Given the description of an element on the screen output the (x, y) to click on. 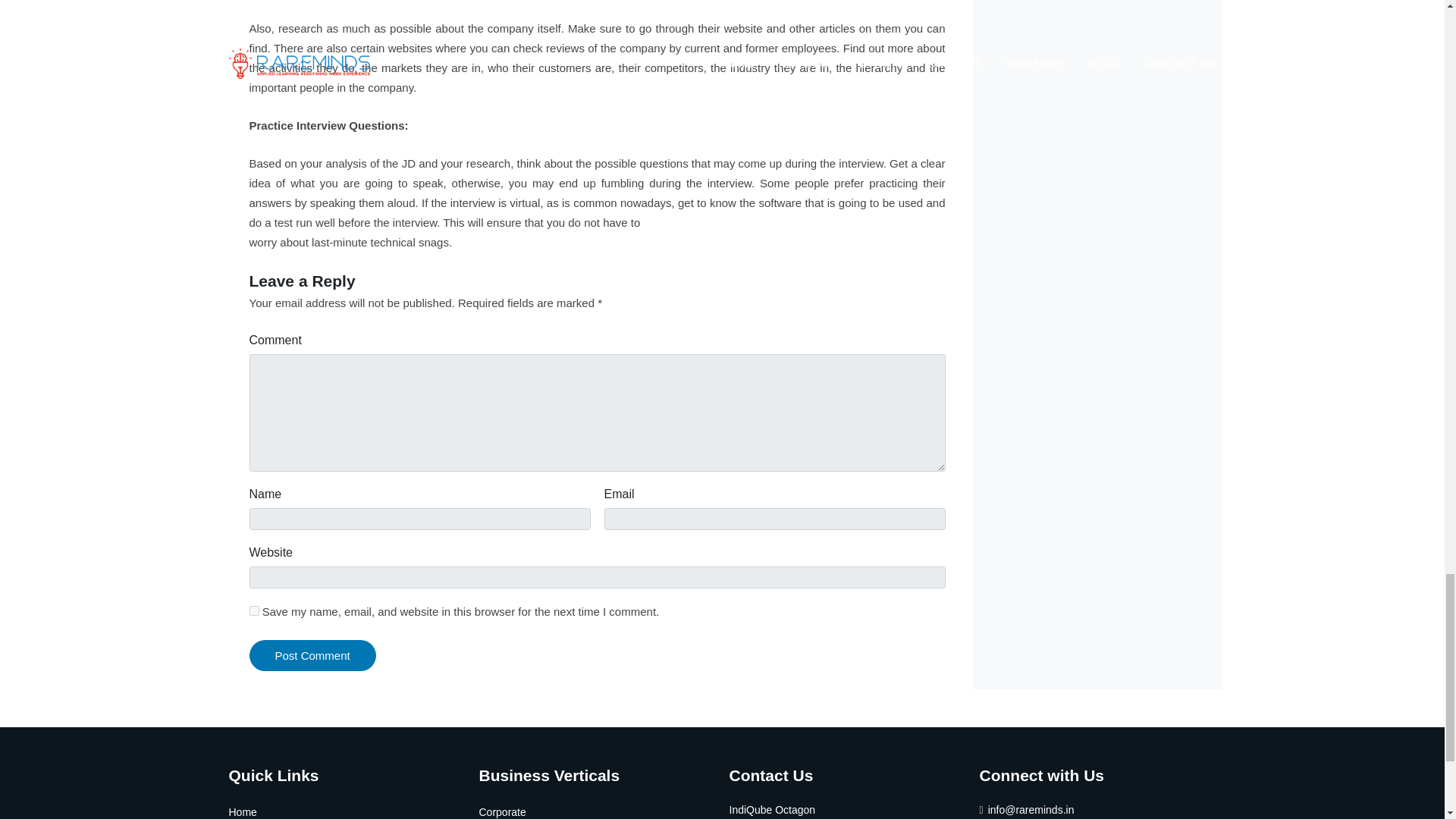
Post Comment (311, 654)
Post Comment (311, 654)
yes (253, 610)
Home (242, 811)
Corporate (502, 811)
